Given the description of an element on the screen output the (x, y) to click on. 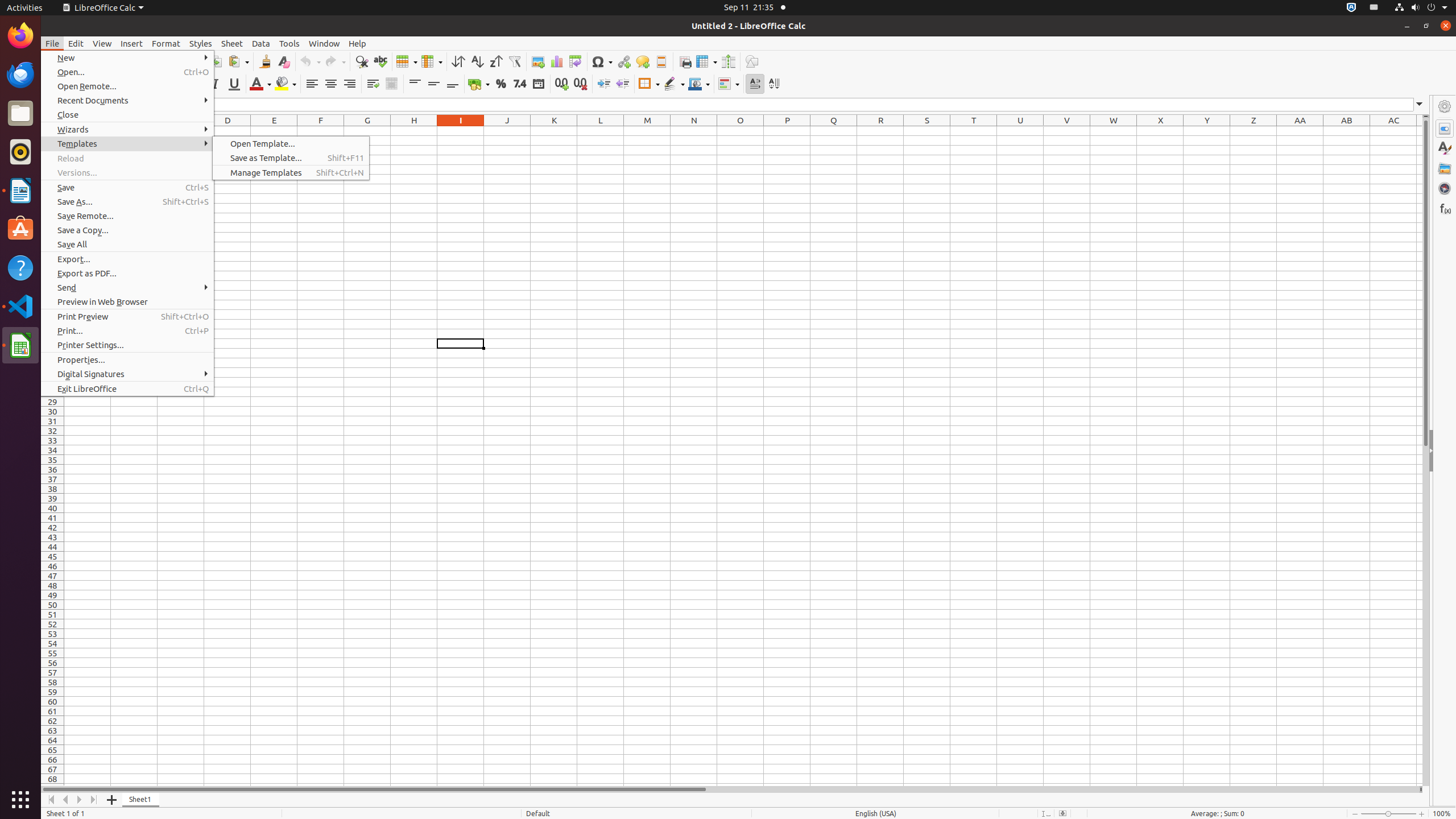
Save As... Element type: menu-item (126, 201)
Export... Element type: menu-item (126, 258)
Functions Element type: radio-button (1444, 208)
Border Color Element type: push-button (698, 83)
Delete Decimal Place Element type: push-button (580, 83)
